Given the description of an element on the screen output the (x, y) to click on. 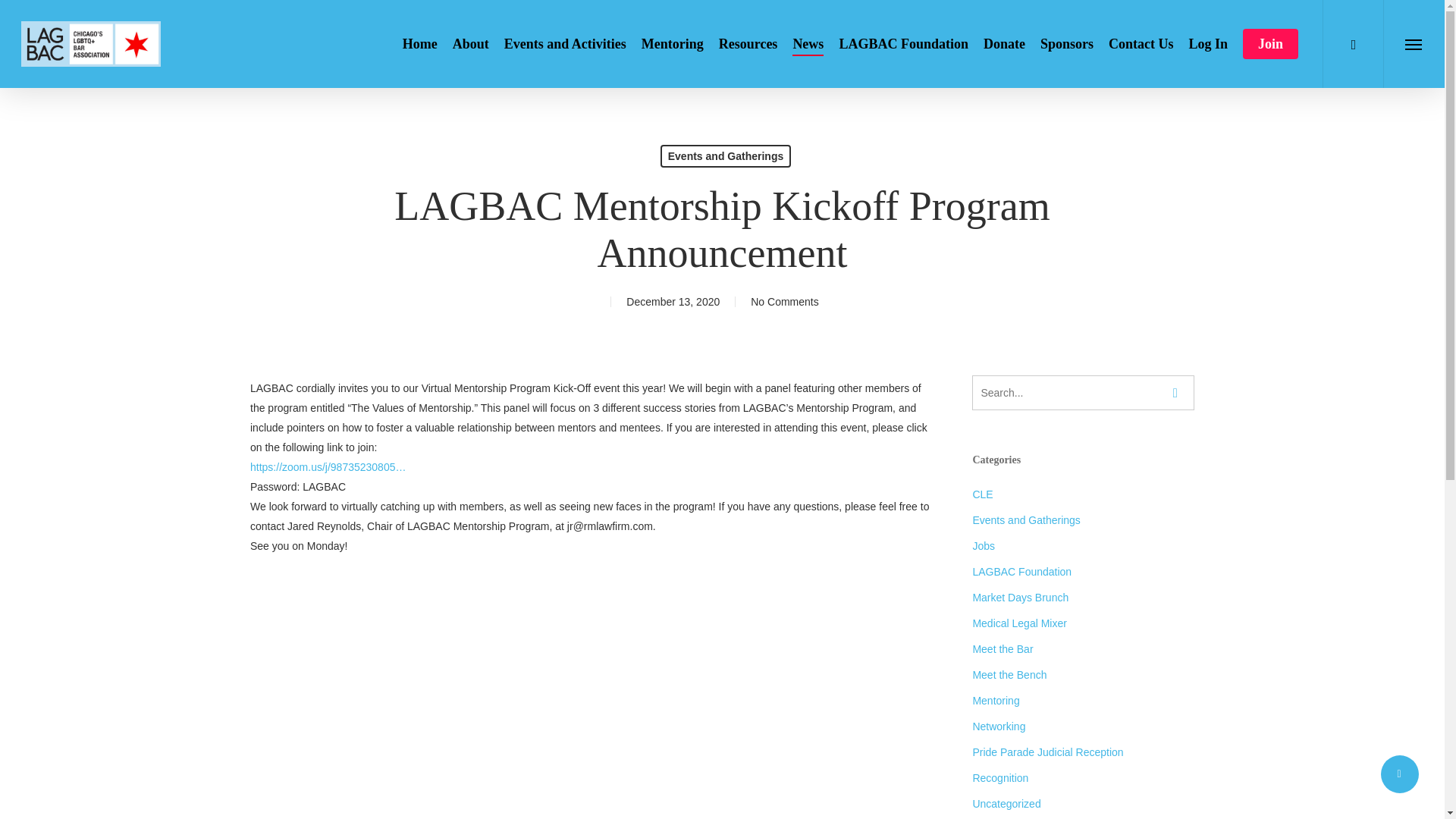
Join (1270, 43)
Resources (748, 43)
Donate (1004, 43)
About (470, 43)
LAGBAC Foundation (903, 43)
Home (420, 43)
Search for: (1082, 392)
Log In (1207, 43)
News (808, 43)
Contact Us (1140, 43)
